Given the description of an element on the screen output the (x, y) to click on. 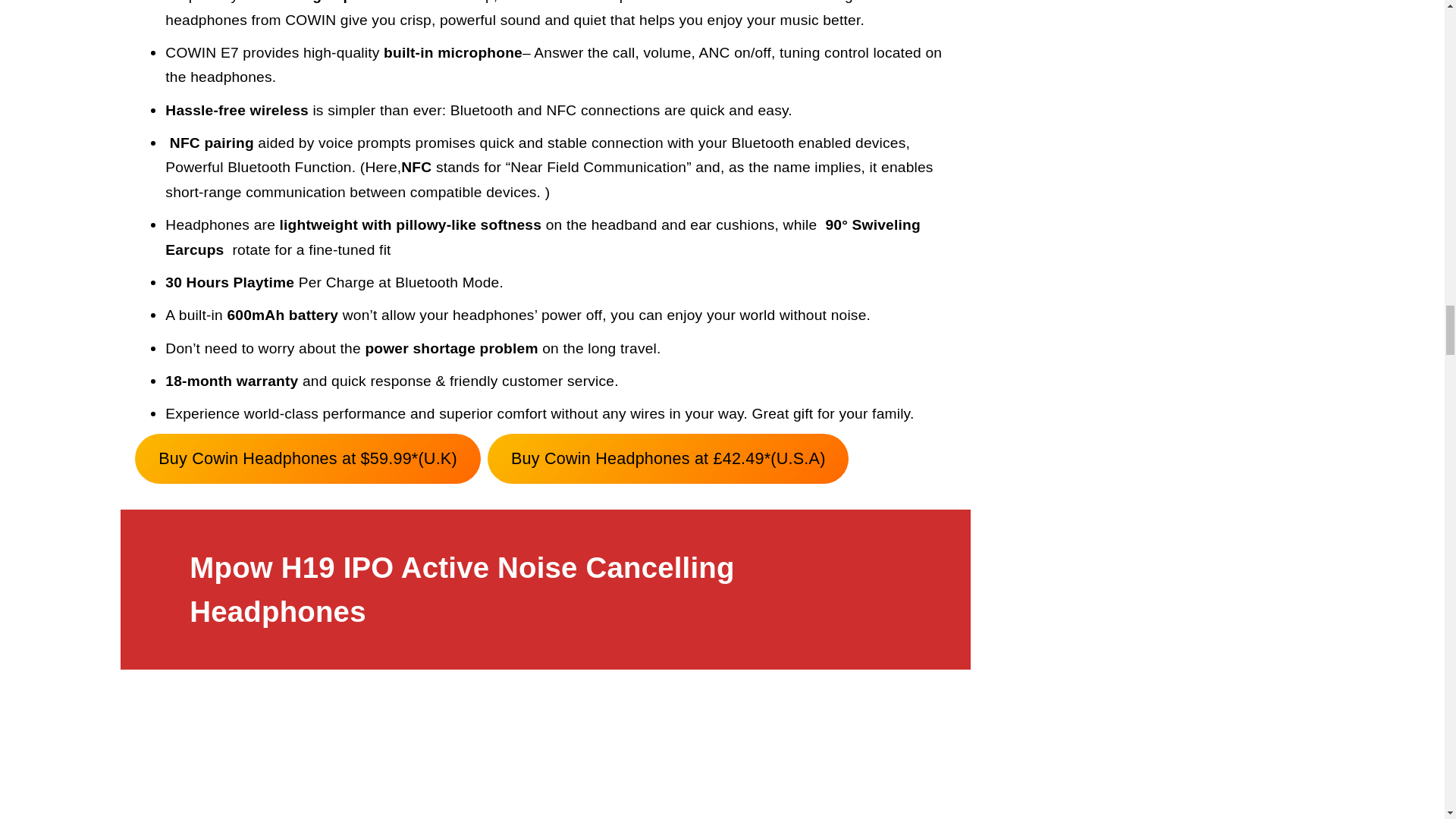
Best Selling and Top Trending WIRELESS HEADPHONES 5 (545, 755)
